Given the description of an element on the screen output the (x, y) to click on. 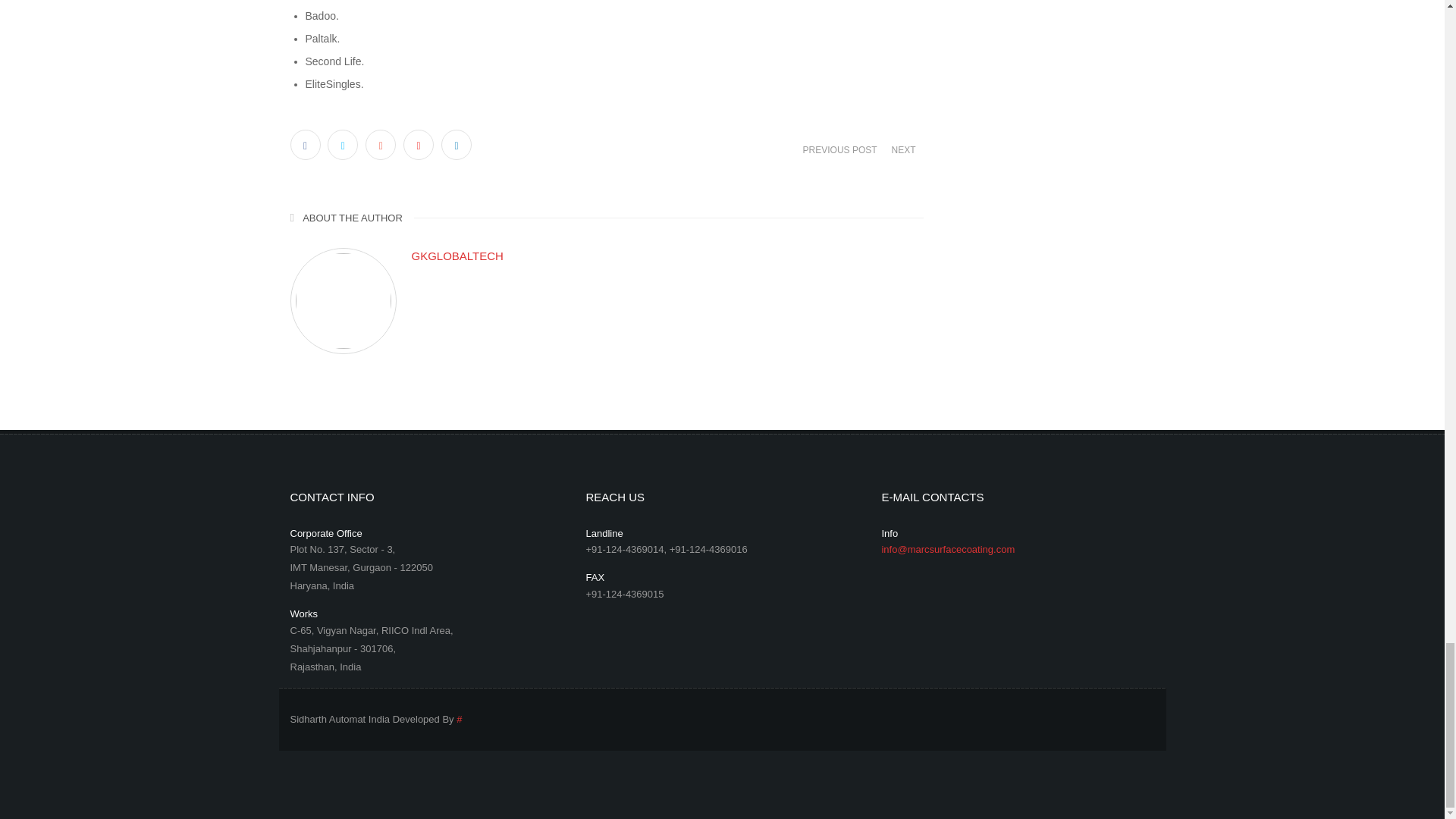
GKGLOBALTECH (666, 255)
NEXT (902, 149)
PREVIOUS POST (839, 149)
